Given the description of an element on the screen output the (x, y) to click on. 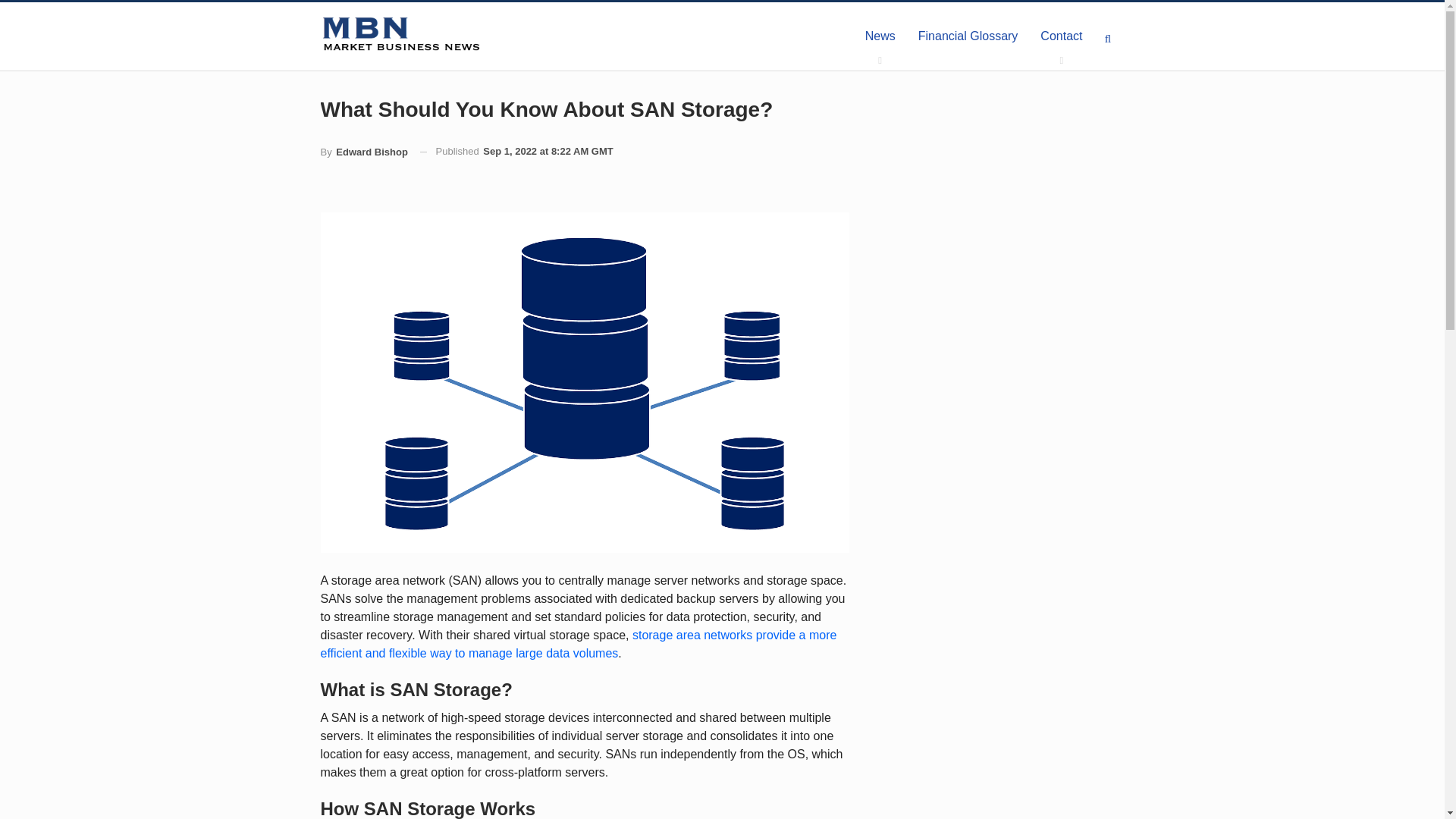
By Edward Bishop (363, 152)
Browse Author Articles (363, 152)
Financial Glossary (968, 36)
Contact (1061, 36)
